Given the description of an element on the screen output the (x, y) to click on. 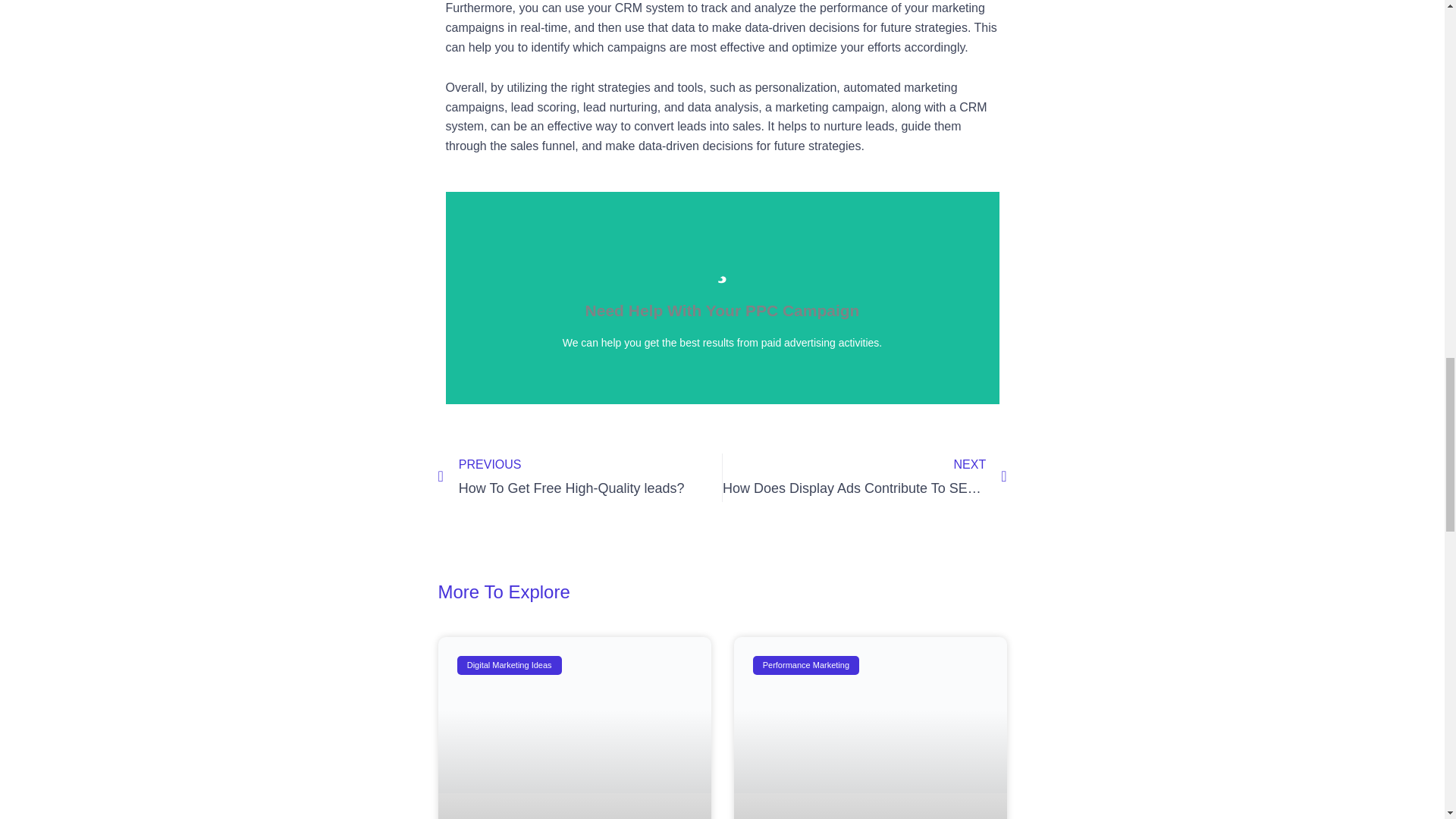
Click Here (580, 477)
